Given the description of an element on the screen output the (x, y) to click on. 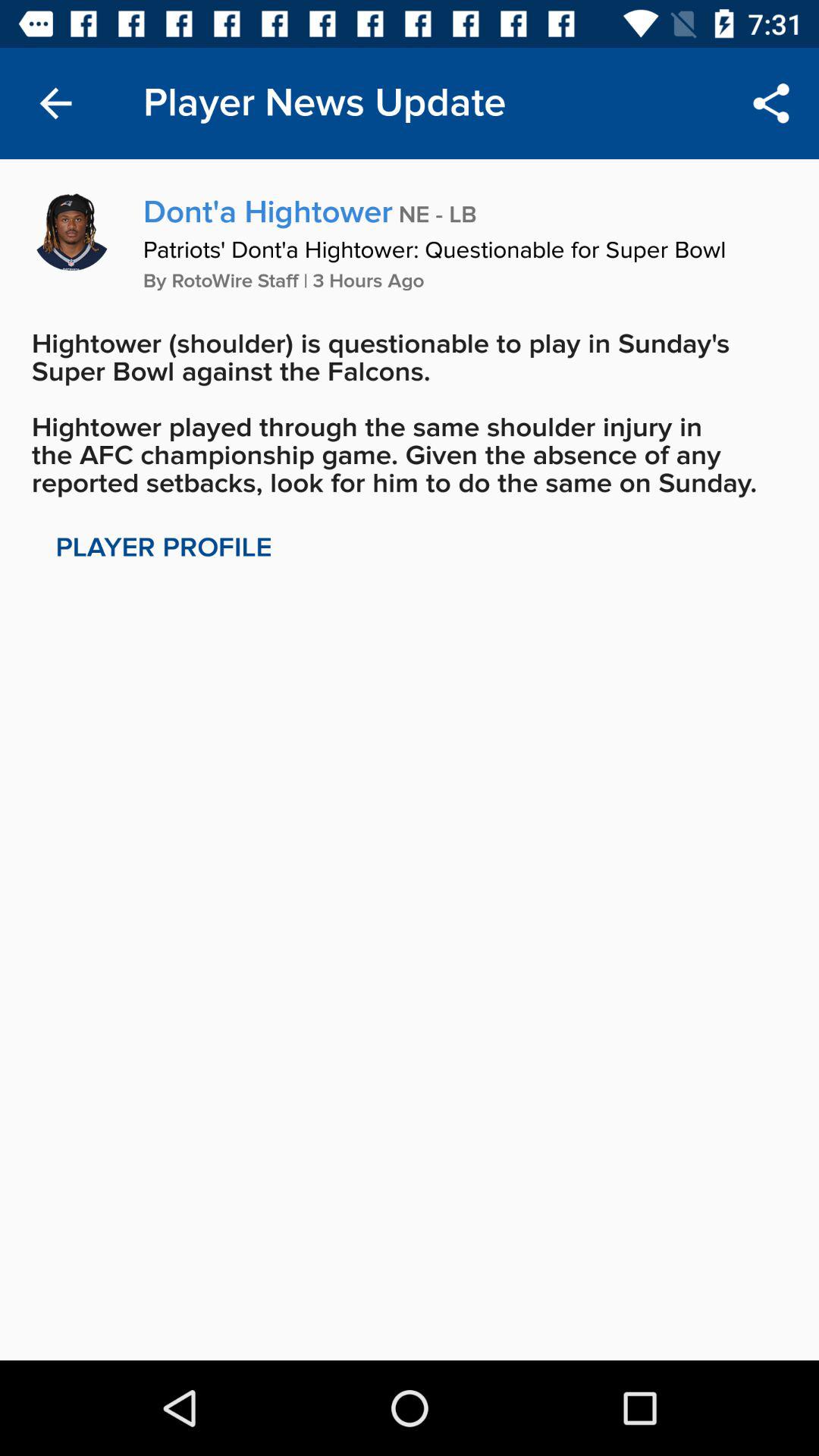
select item at the top right corner (771, 103)
